Given the description of an element on the screen output the (x, y) to click on. 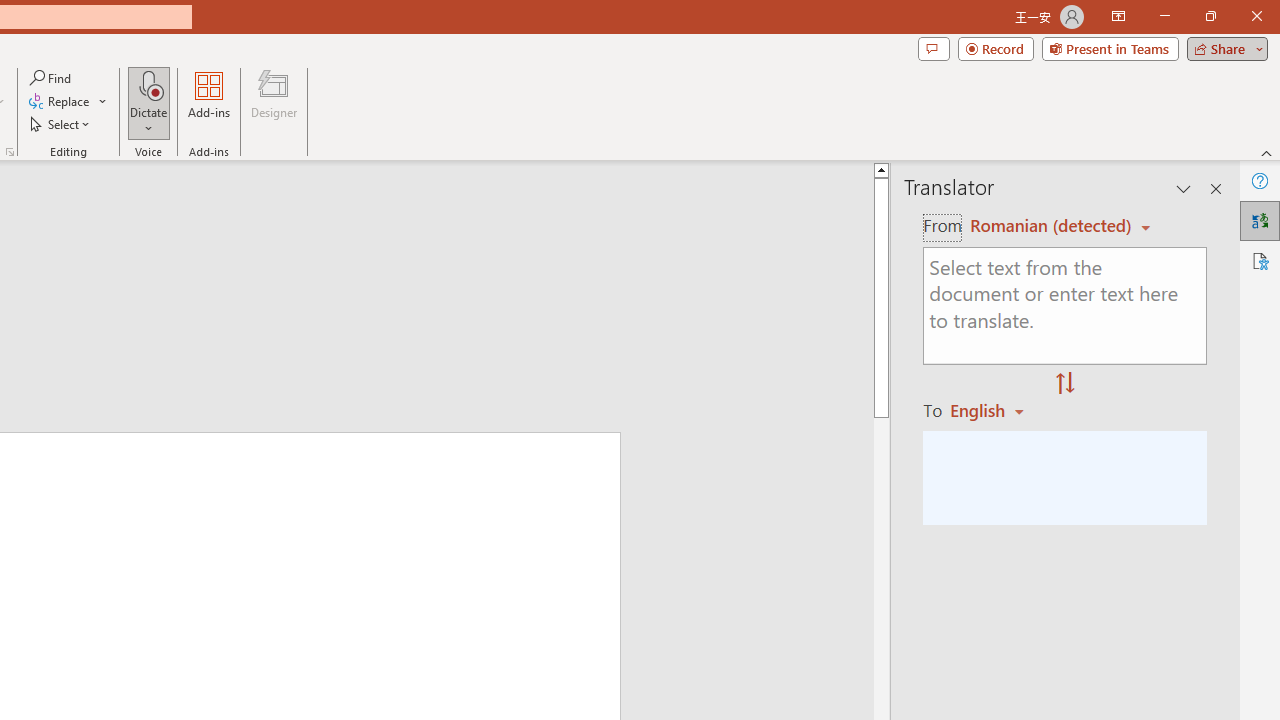
Find... (51, 78)
